Given the description of an element on the screen output the (x, y) to click on. 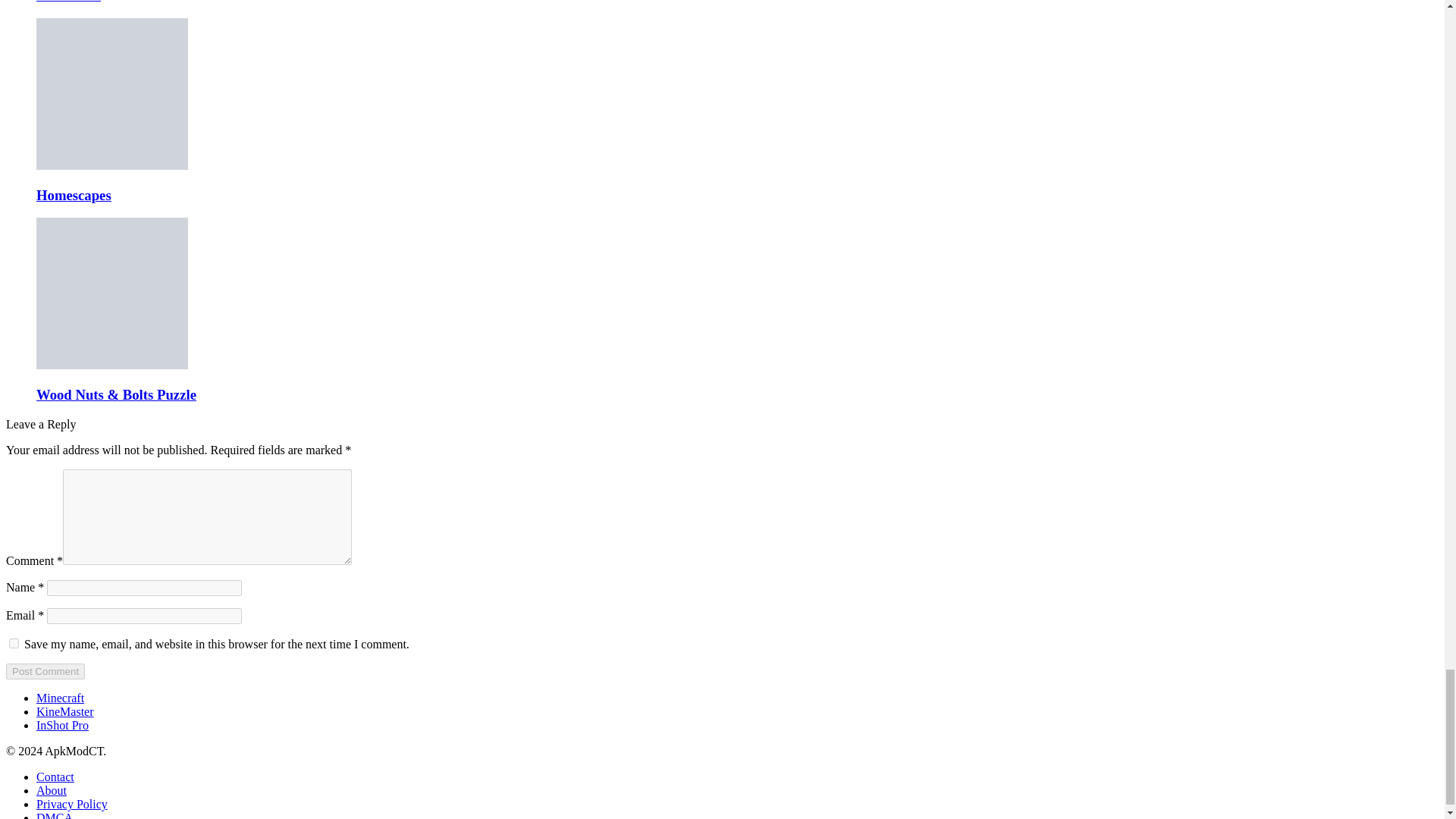
Contact (55, 776)
yes (13, 643)
KineMaster Mod Apk (65, 711)
Post Comment (44, 671)
InShot Pro Apk (62, 725)
Privacy Policy (71, 803)
Minecraft Mod Apk (60, 697)
About (51, 789)
